Given the description of an element on the screen output the (x, y) to click on. 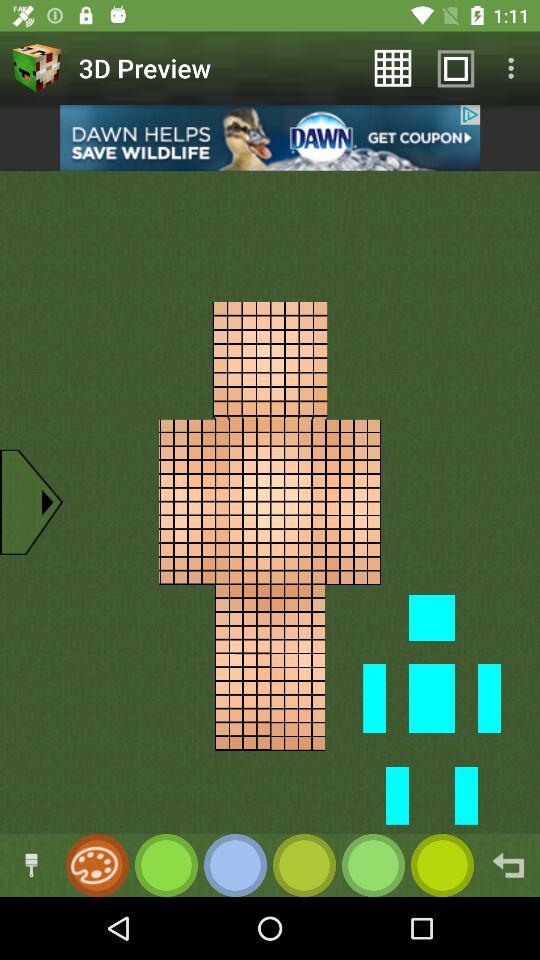
go back (508, 865)
